Given the description of an element on the screen output the (x, y) to click on. 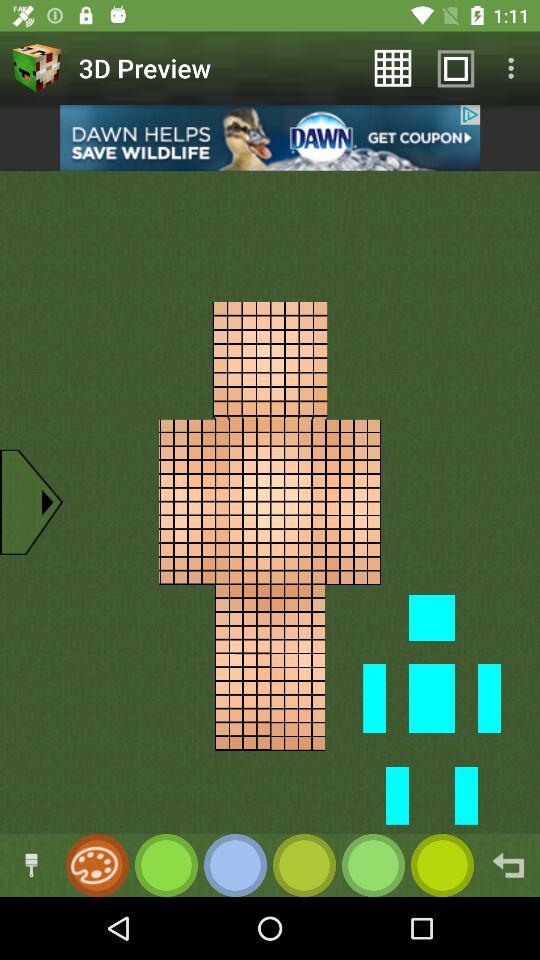
go back (508, 865)
